Given the description of an element on the screen output the (x, y) to click on. 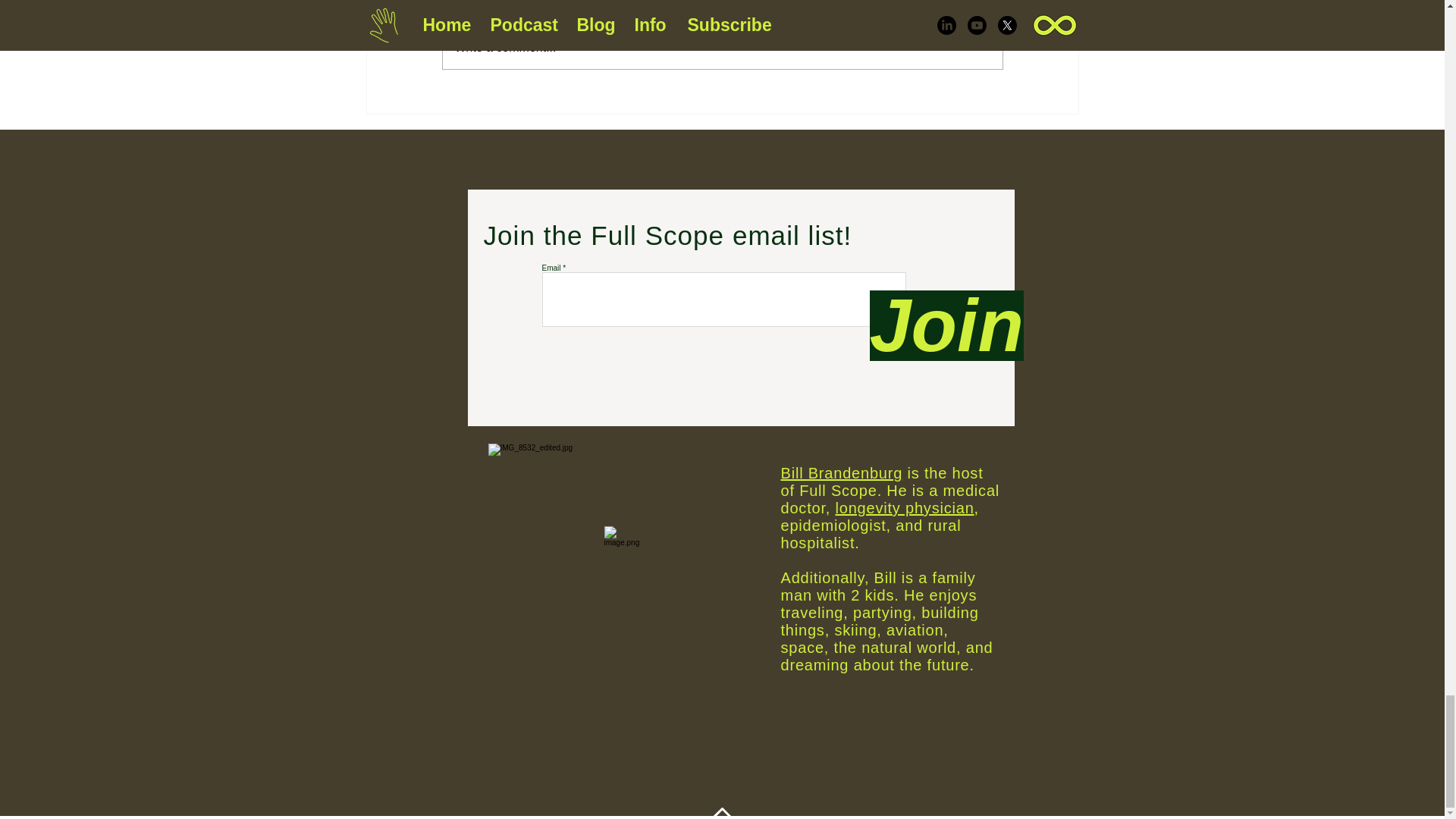
Write a comment... (722, 47)
